Given the description of an element on the screen output the (x, y) to click on. 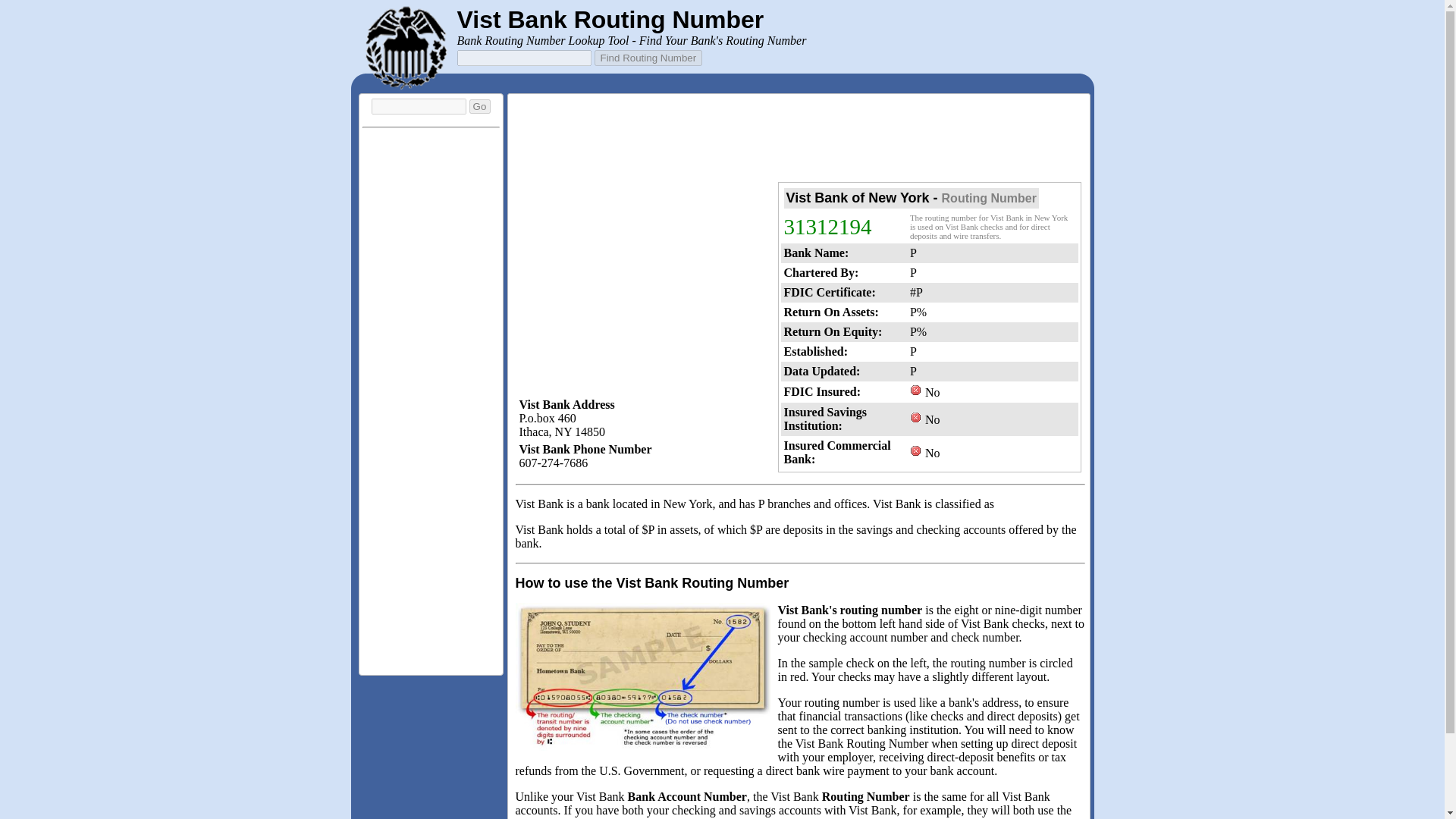
Find Routing Number (648, 57)
Go (478, 106)
Advertisement (430, 632)
Advertisement (798, 140)
Find Routing Number (648, 57)
Advertisement (642, 287)
Go (478, 106)
